Given the description of an element on the screen output the (x, y) to click on. 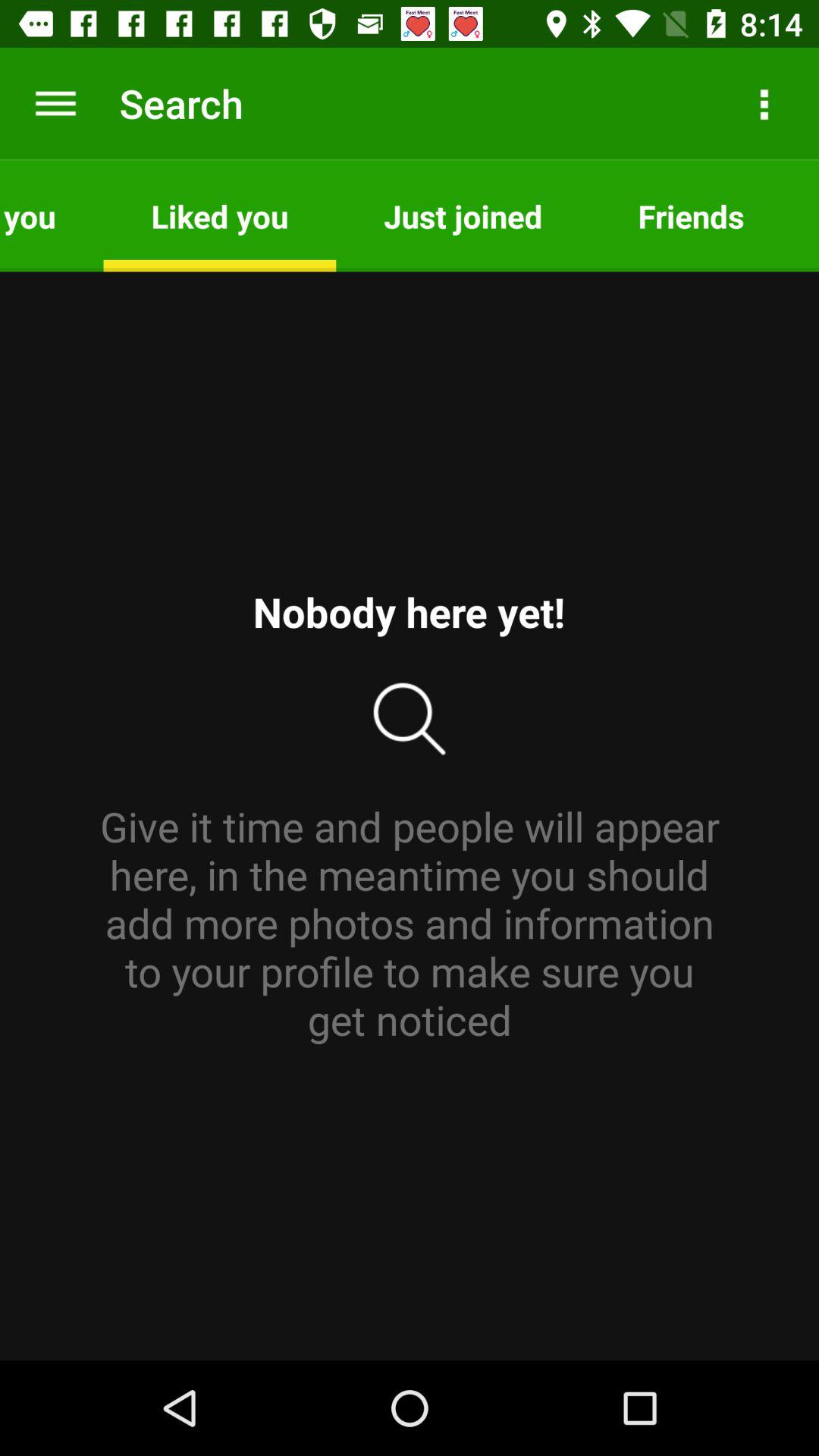
tap item to the right of the friends app (805, 215)
